Given the description of an element on the screen output the (x, y) to click on. 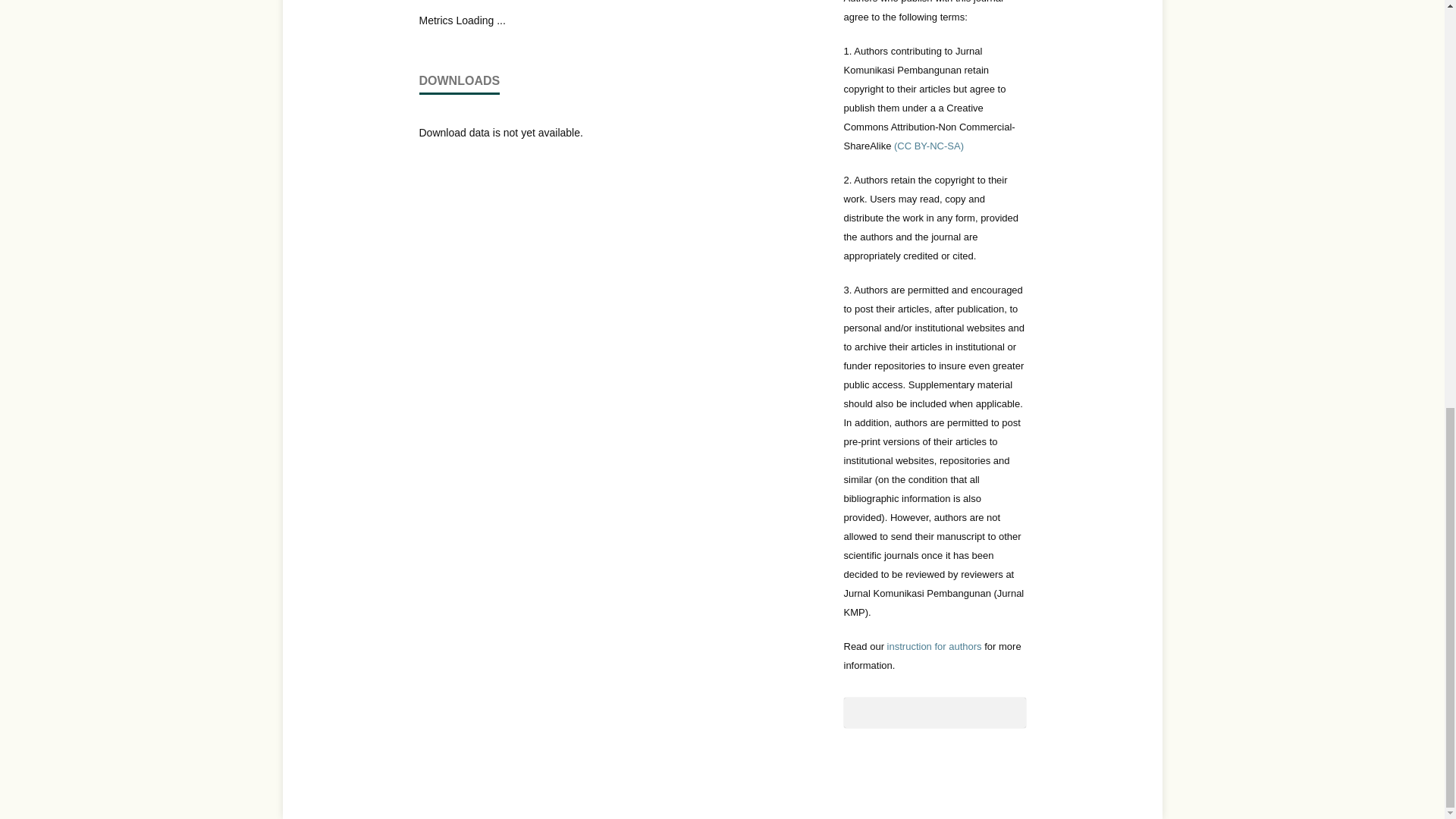
CC (928, 145)
instruction for authors (933, 645)
instruction for authors (933, 645)
